Given the description of an element on the screen output the (x, y) to click on. 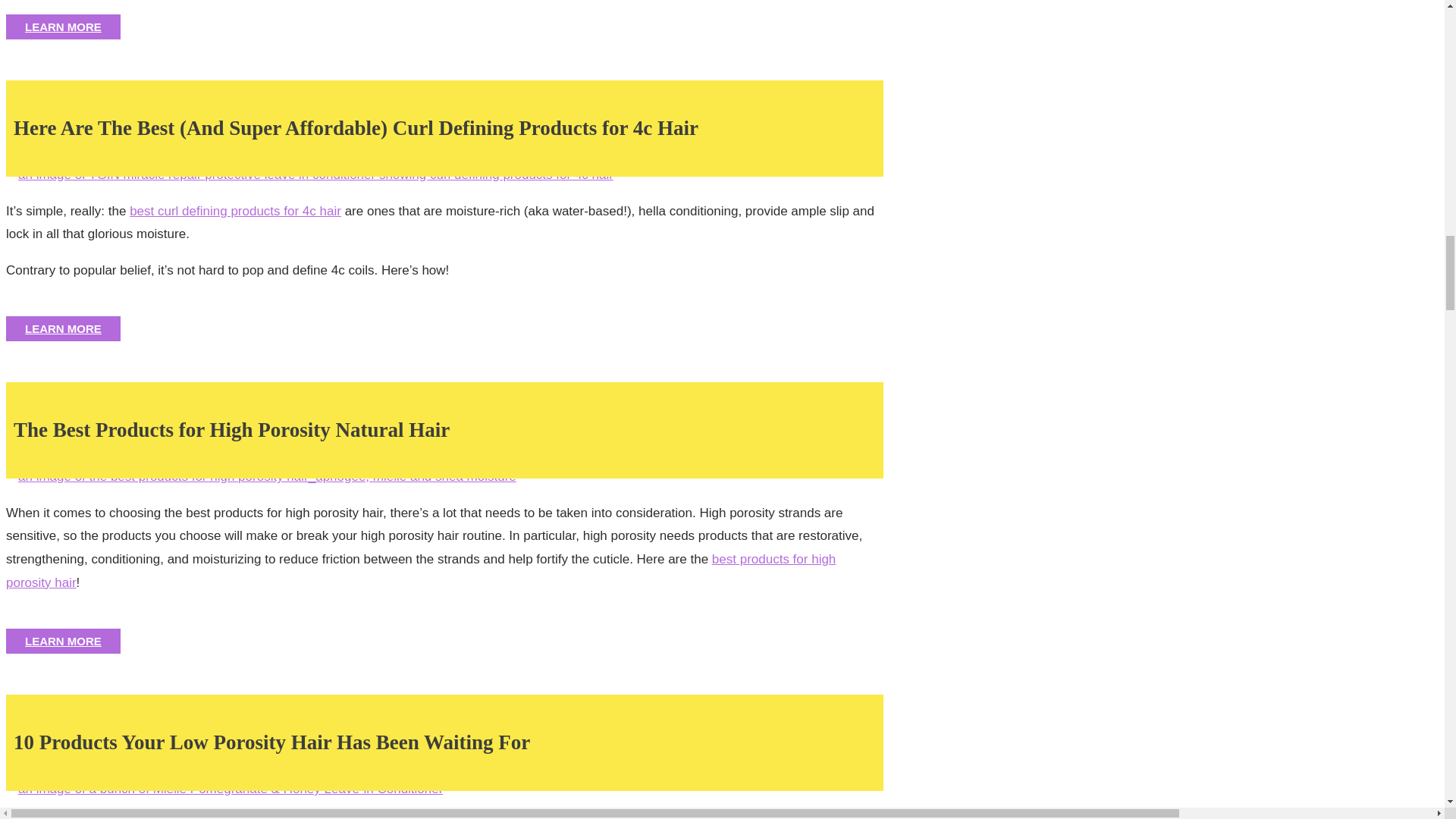
best products for low porosity hair (223, 789)
LEARN MORE (62, 328)
LEARN MORE (62, 640)
LEARN MORE (62, 26)
best curl defining products for 4c hair (234, 210)
best products for high porosity hair (420, 570)
best curl defining products for 4c hair (308, 175)
